Given the description of an element on the screen output the (x, y) to click on. 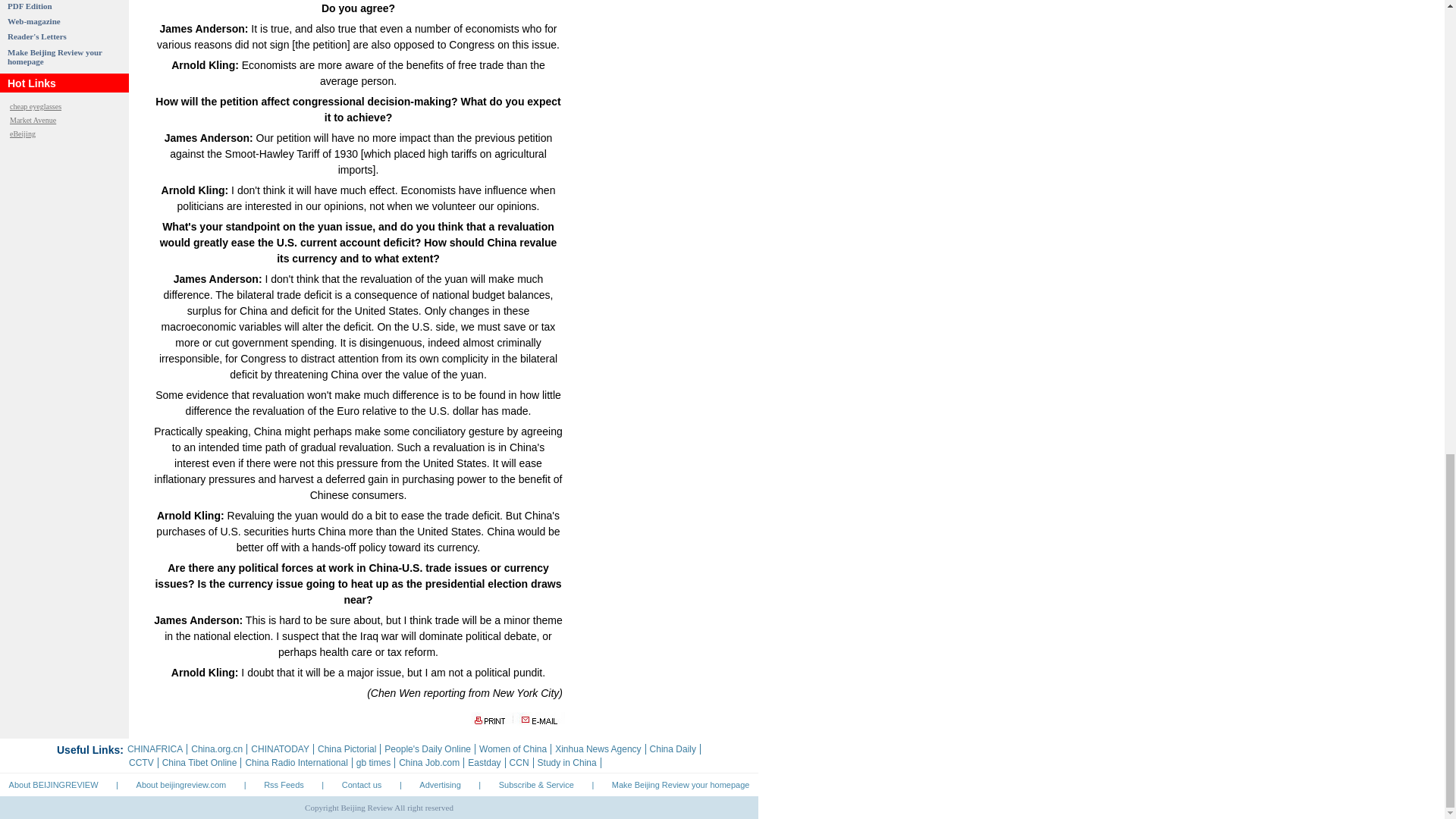
cheap eyeglasses (35, 106)
Make Beijing Review your homepage (54, 56)
Reader's Letters (36, 35)
PDF Edition (29, 5)
